Given the description of an element on the screen output the (x, y) to click on. 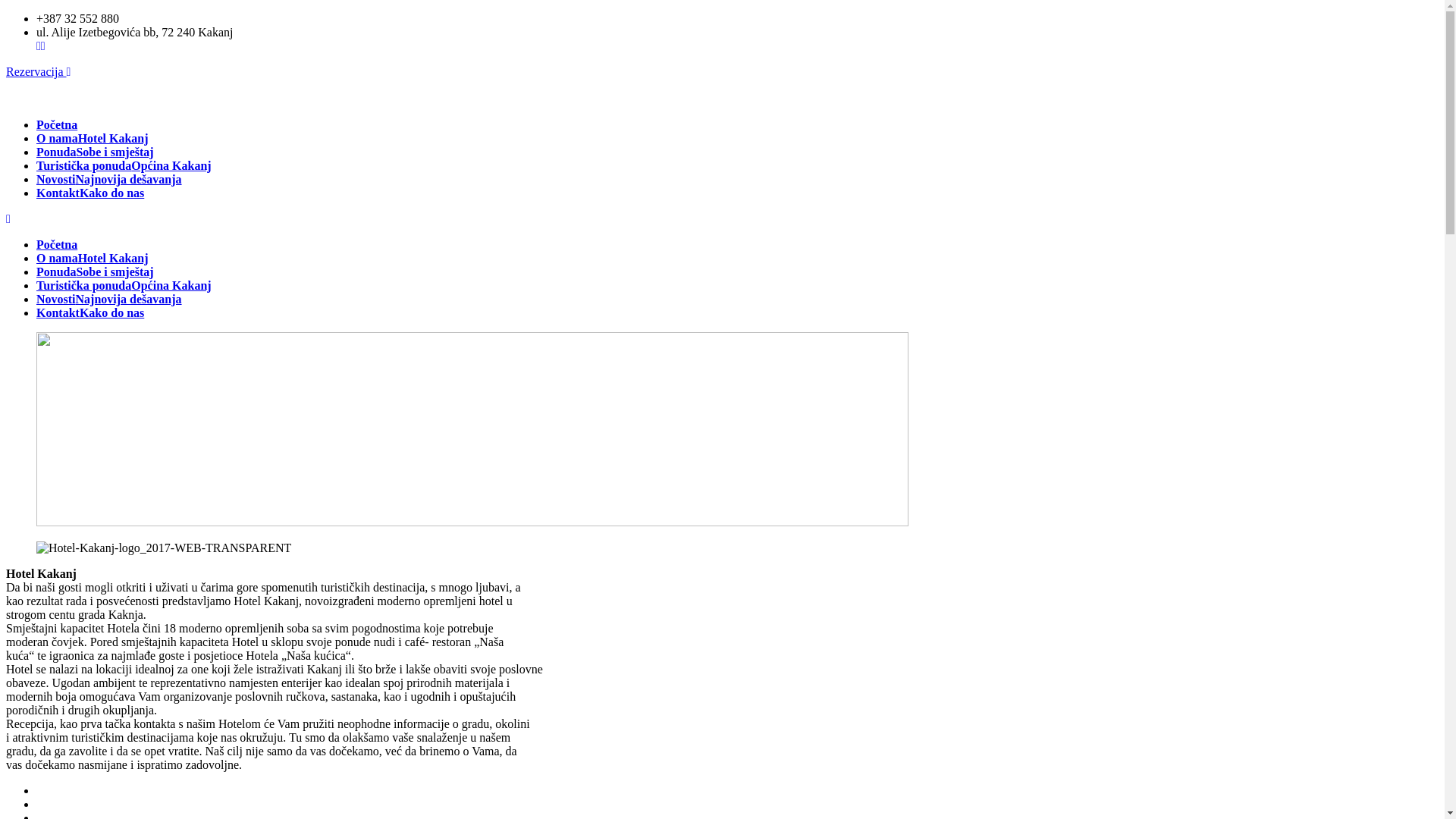
Rezervacija Element type: text (38, 71)
Hotel-Kakanj-logo_2017-WEB-TRANSPARENT Element type: hover (163, 548)
O namaHotel Kakanj Element type: text (92, 257)
KontaktKako do nas Element type: text (90, 312)
KontaktKako do nas Element type: text (90, 192)
O namaHotel Kakanj Element type: text (92, 137)
